Given the description of an element on the screen output the (x, y) to click on. 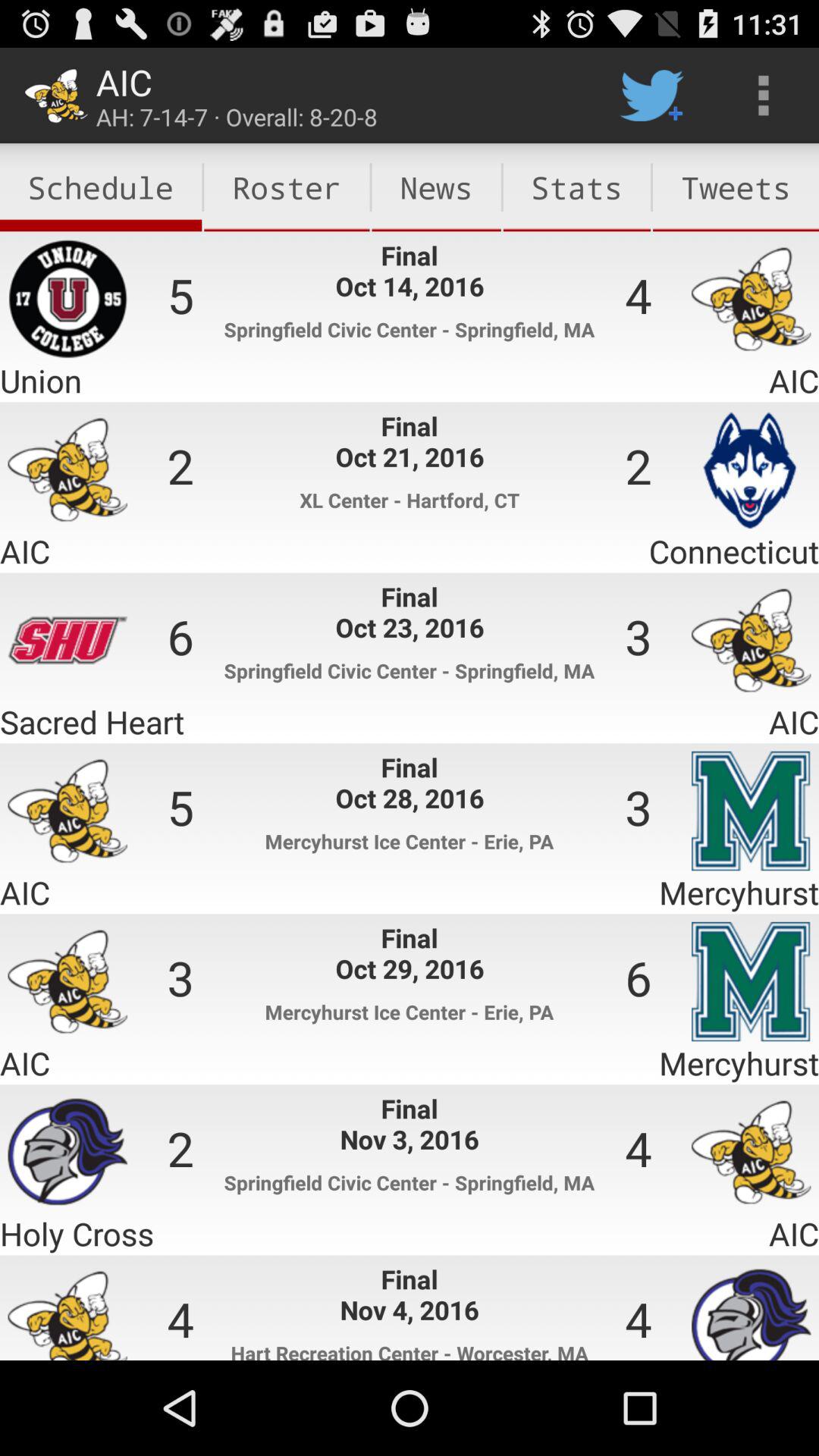
turn off item above final oct 14 app (286, 187)
